Given the description of an element on the screen output the (x, y) to click on. 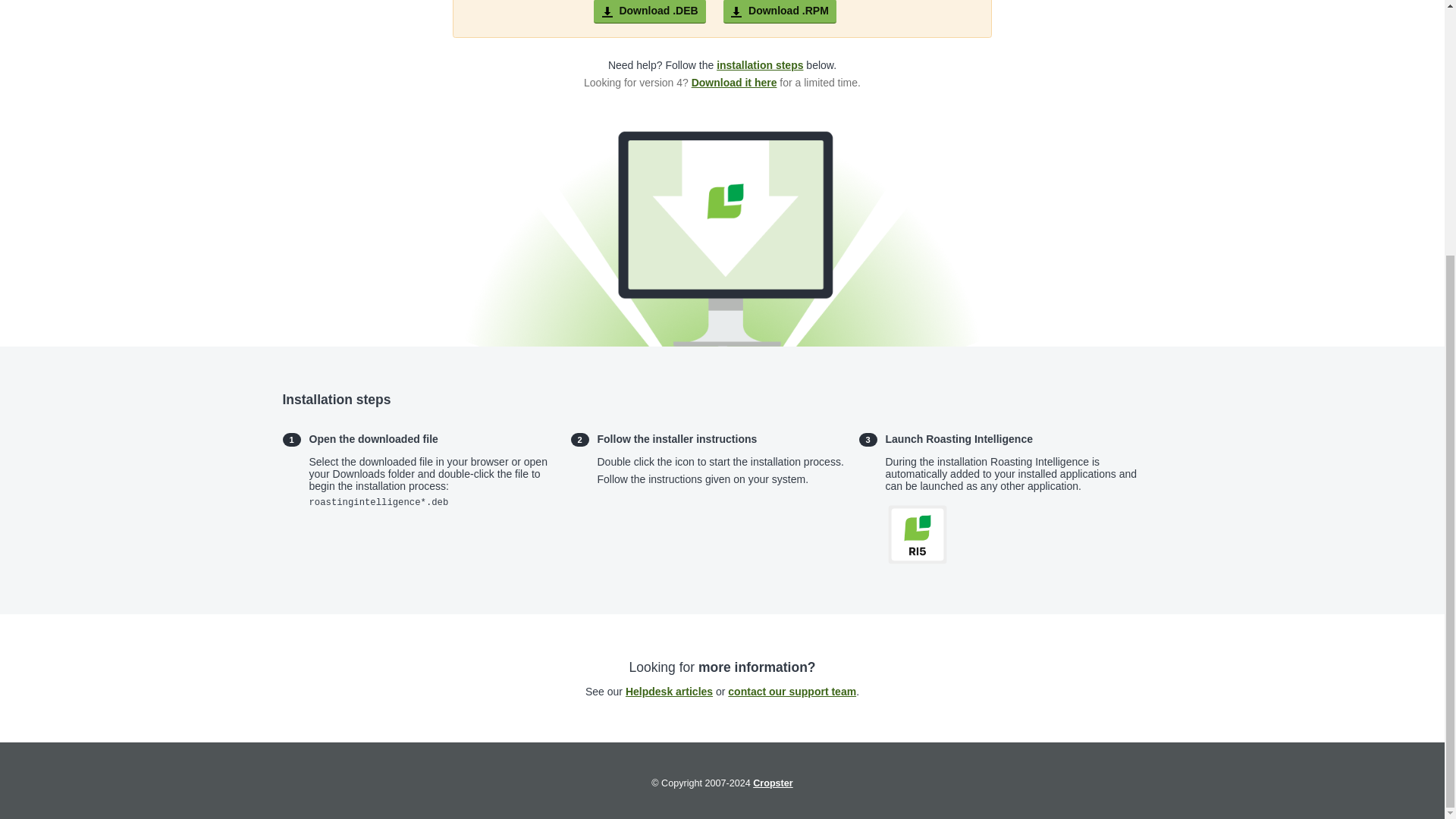
Helpdesk articles (669, 691)
installation steps (759, 65)
contact our support team (792, 691)
Download .DEB (650, 11)
Download .RPM (780, 11)
Cropster (772, 783)
Download it here (734, 82)
